Given the description of an element on the screen output the (x, y) to click on. 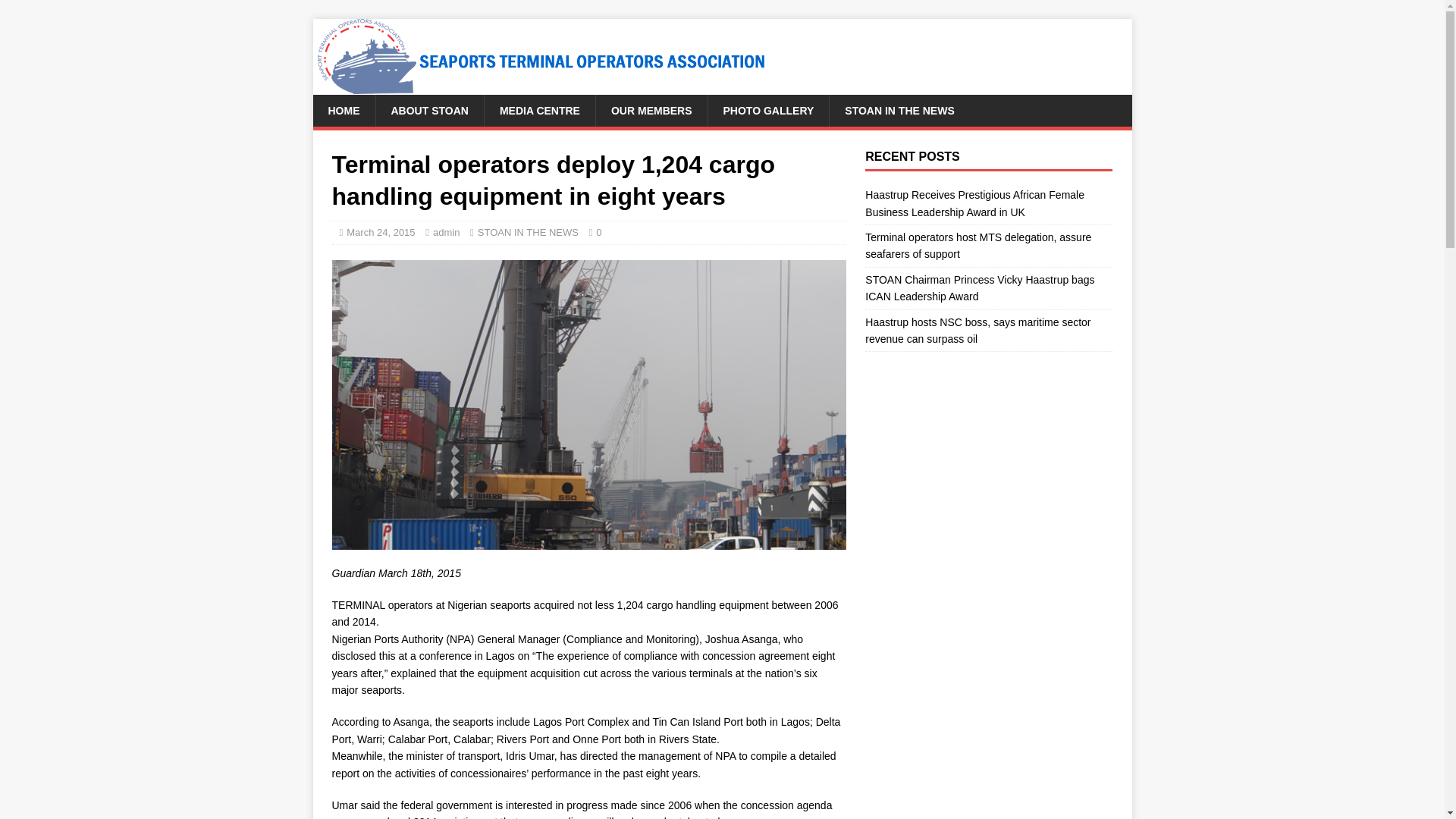
admin (446, 232)
OUR MEMBERS (651, 110)
PHOTO GALLERY (768, 110)
HOME (343, 110)
ABOUT STOAN (428, 110)
STOAN (540, 86)
MEDIA CENTRE (539, 110)
March 24, 2015 (380, 232)
STOAN IN THE NEWS (898, 110)
STOAN IN THE NEWS (527, 232)
